Given the description of an element on the screen output the (x, y) to click on. 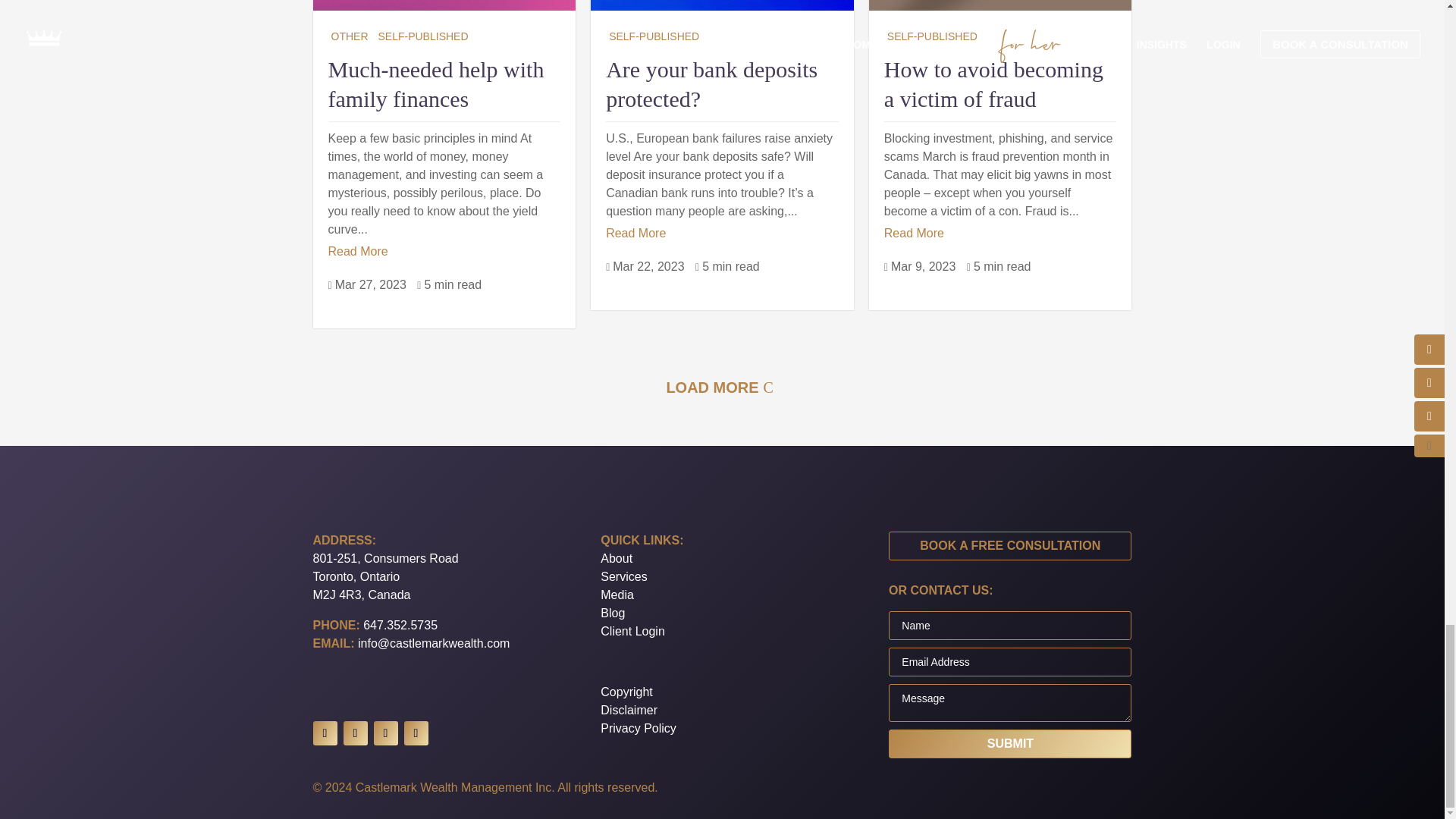
SELF-PUBLISHED (422, 35)
Read More (635, 233)
SELF-PUBLISHED (653, 35)
How to avoid becoming a victim of fraud (993, 83)
Follow on LinkedIn (324, 733)
Are your bank deposits protected? (710, 83)
SELF-PUBLISHED (931, 35)
Much-needed help with family finances (435, 83)
Follow on Instagram (384, 733)
LOAD MORE (722, 387)
OTHER (349, 35)
Read More (357, 251)
Follow on X (415, 733)
Read More (913, 233)
Follow on Vimeo (354, 733)
